Given the description of an element on the screen output the (x, y) to click on. 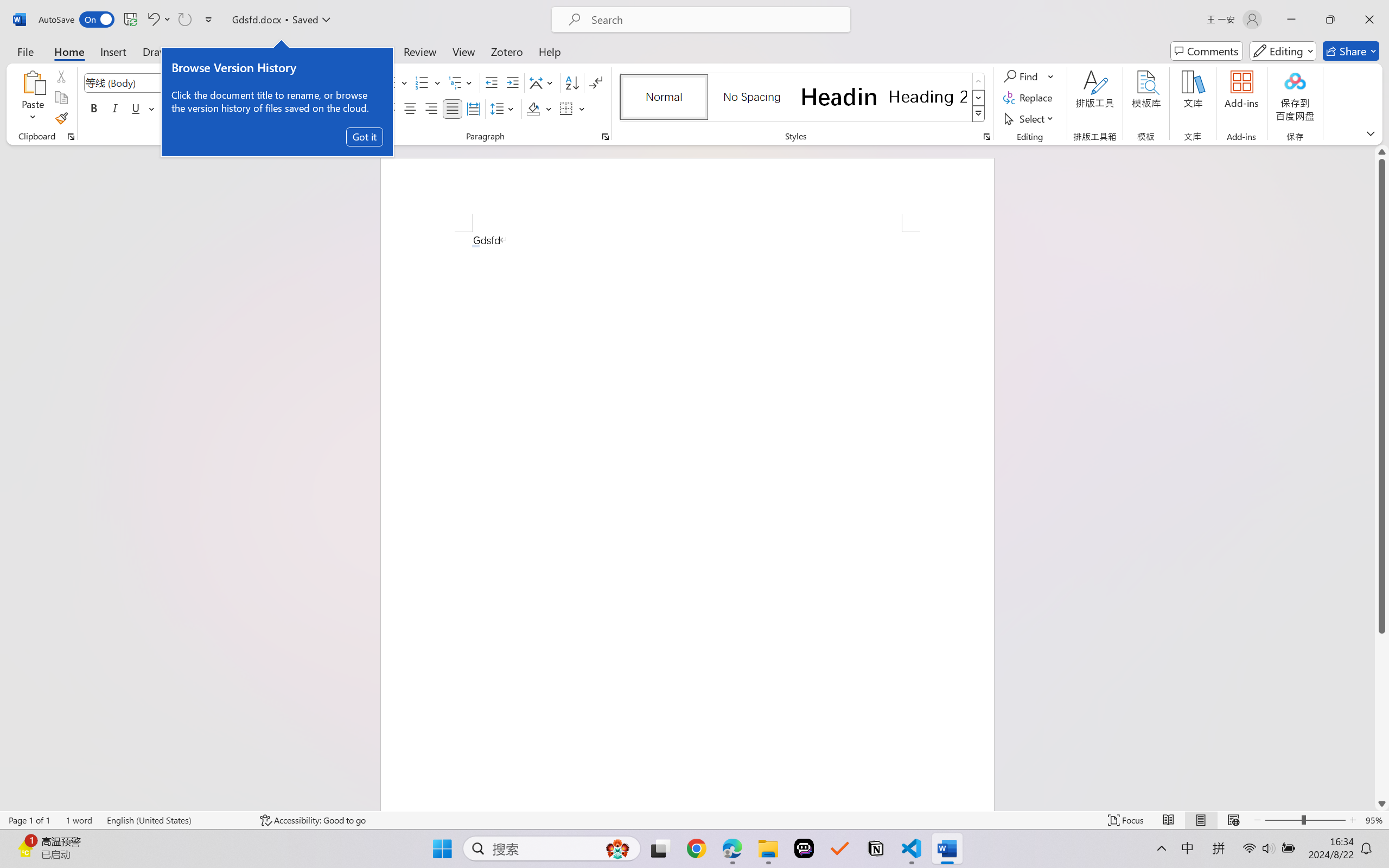
Page 1 content (687, 521)
Change Case (284, 82)
Heading 2 (927, 96)
Text Effects and Typography (241, 108)
Replace... (1029, 97)
Superscript (210, 108)
Can't Repeat (184, 19)
Class: MsoCommandBar (694, 819)
Justify (452, 108)
